Given the description of an element on the screen output the (x, y) to click on. 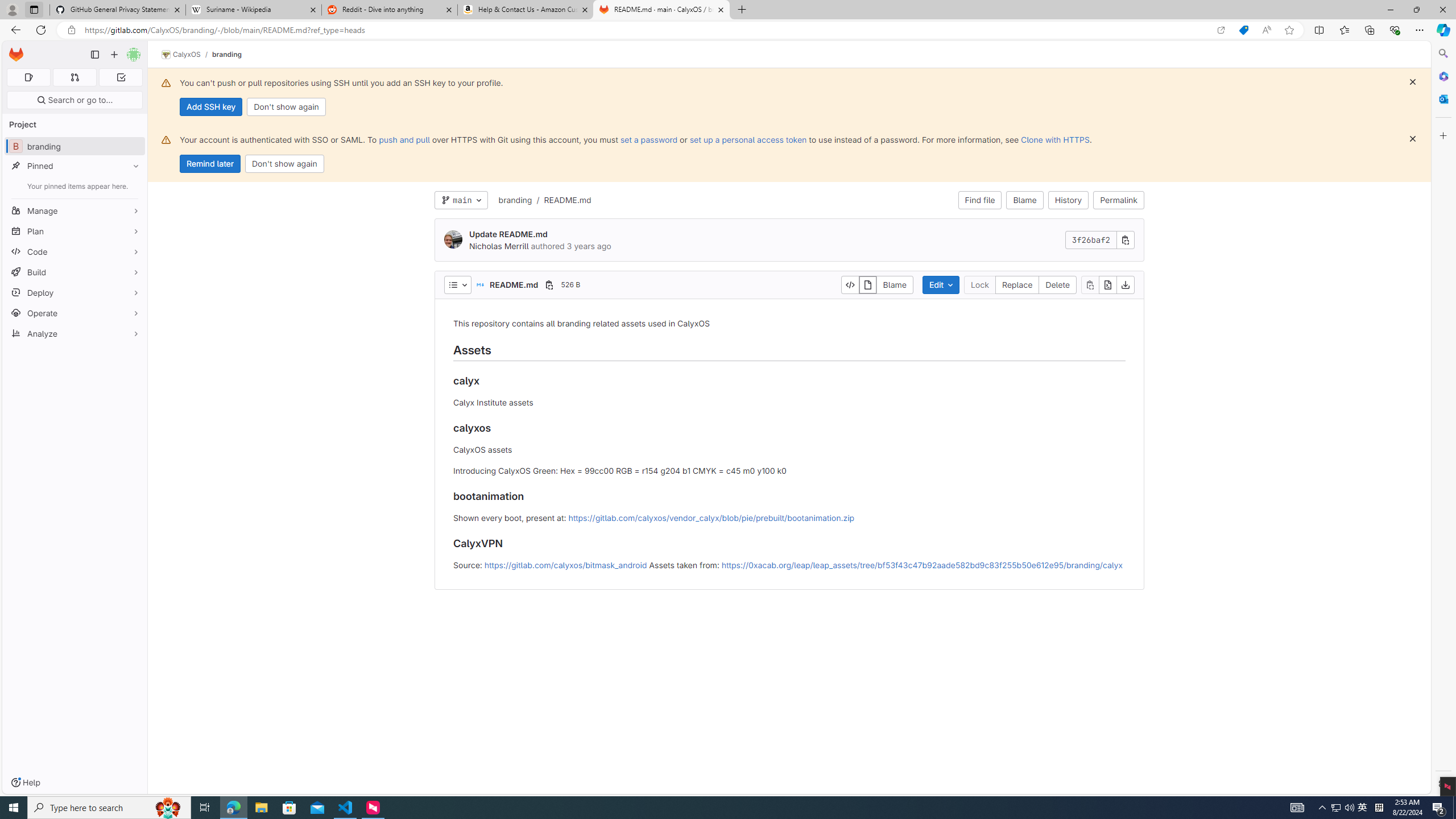
Class: s16 gl-icon gl-button-icon  (1411, 138)
Analyze (74, 333)
branding (514, 199)
B branding (74, 145)
Plan (74, 230)
To-Do list 0 (120, 76)
Update README.md (507, 233)
CalyxOS/ (186, 54)
Download (1125, 285)
Analyze (74, 333)
Create new... (113, 54)
main (460, 199)
Find file (979, 199)
